Given the description of an element on the screen output the (x, y) to click on. 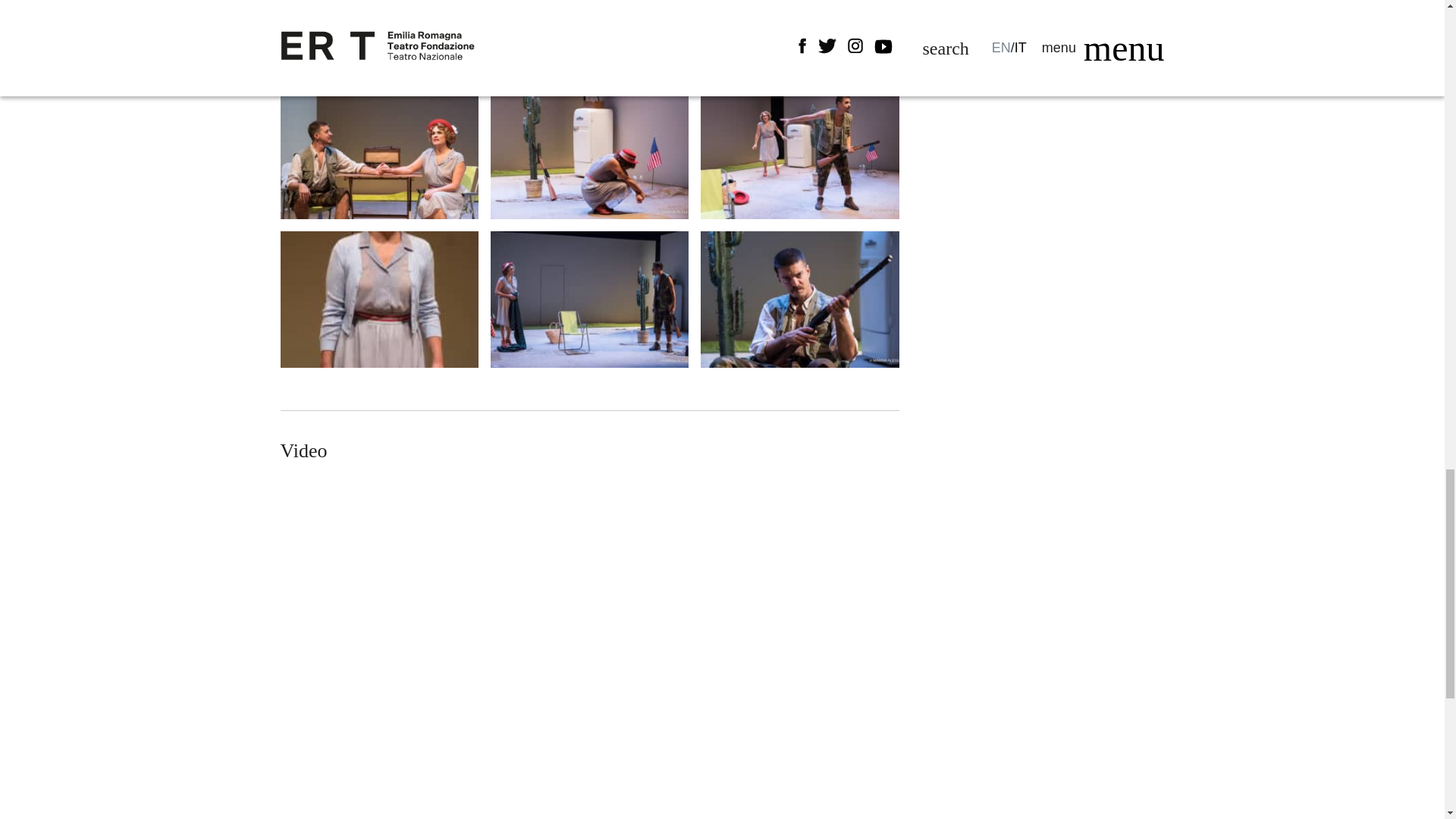
Arizona Gallery Image (380, 35)
Arizona Gallery Image (799, 150)
Arizona Gallery Image (799, 35)
Arizona Gallery Image (589, 150)
Arizona Gallery Image (589, 35)
Arizona Gallery Image (799, 298)
Arizona Gallery Image (380, 298)
Arizona Gallery Image (380, 150)
Arizona Gallery Image (589, 298)
